Given the description of an element on the screen output the (x, y) to click on. 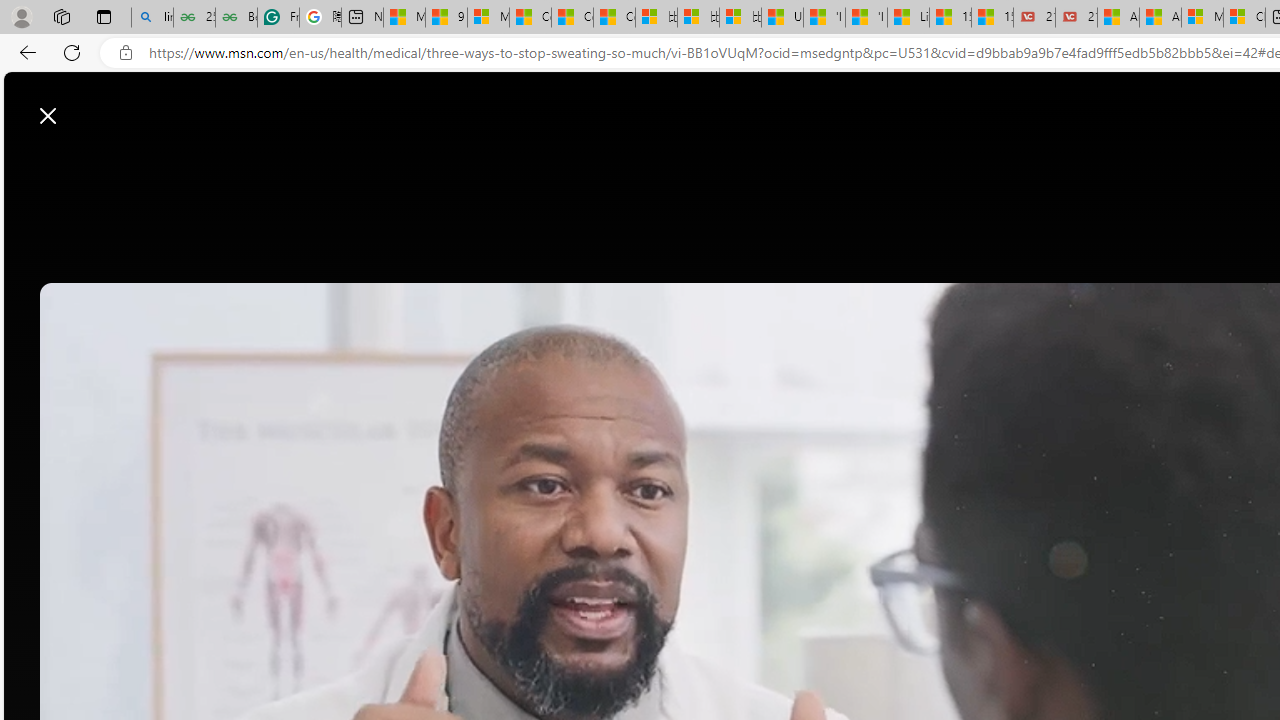
USA TODAY - MSN (781, 17)
